Given the description of an element on the screen output the (x, y) to click on. 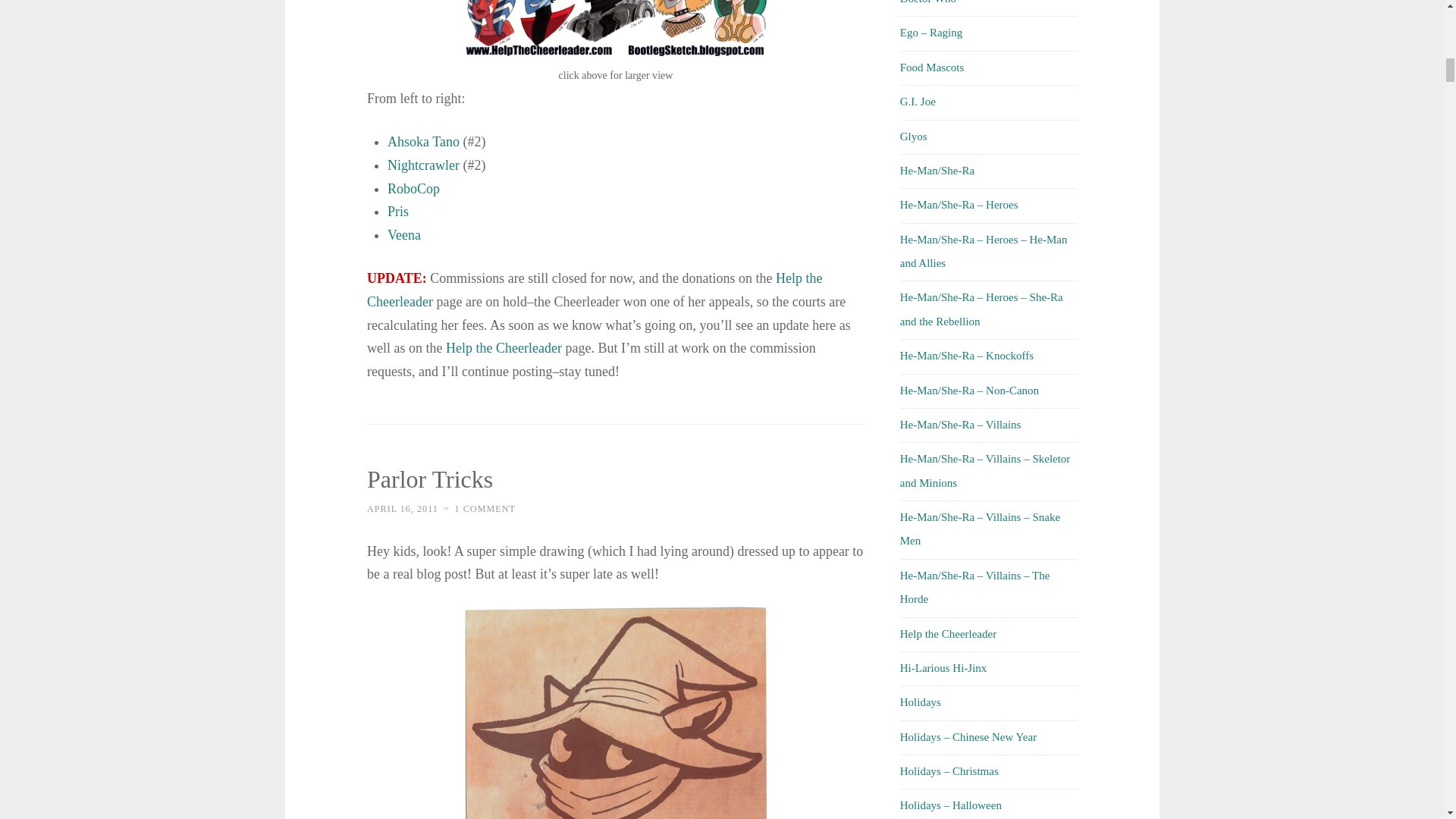
1 COMMENT (484, 508)
Ahsoka Tano (423, 141)
Help the Cheerleader (503, 347)
Parlor Tricks (429, 479)
Pris (398, 211)
RoboCop (413, 188)
Nightcrawler (423, 165)
Help the Cheerleader (594, 290)
APRIL 16, 2011 (402, 508)
Veena (403, 234)
